Given the description of an element on the screen output the (x, y) to click on. 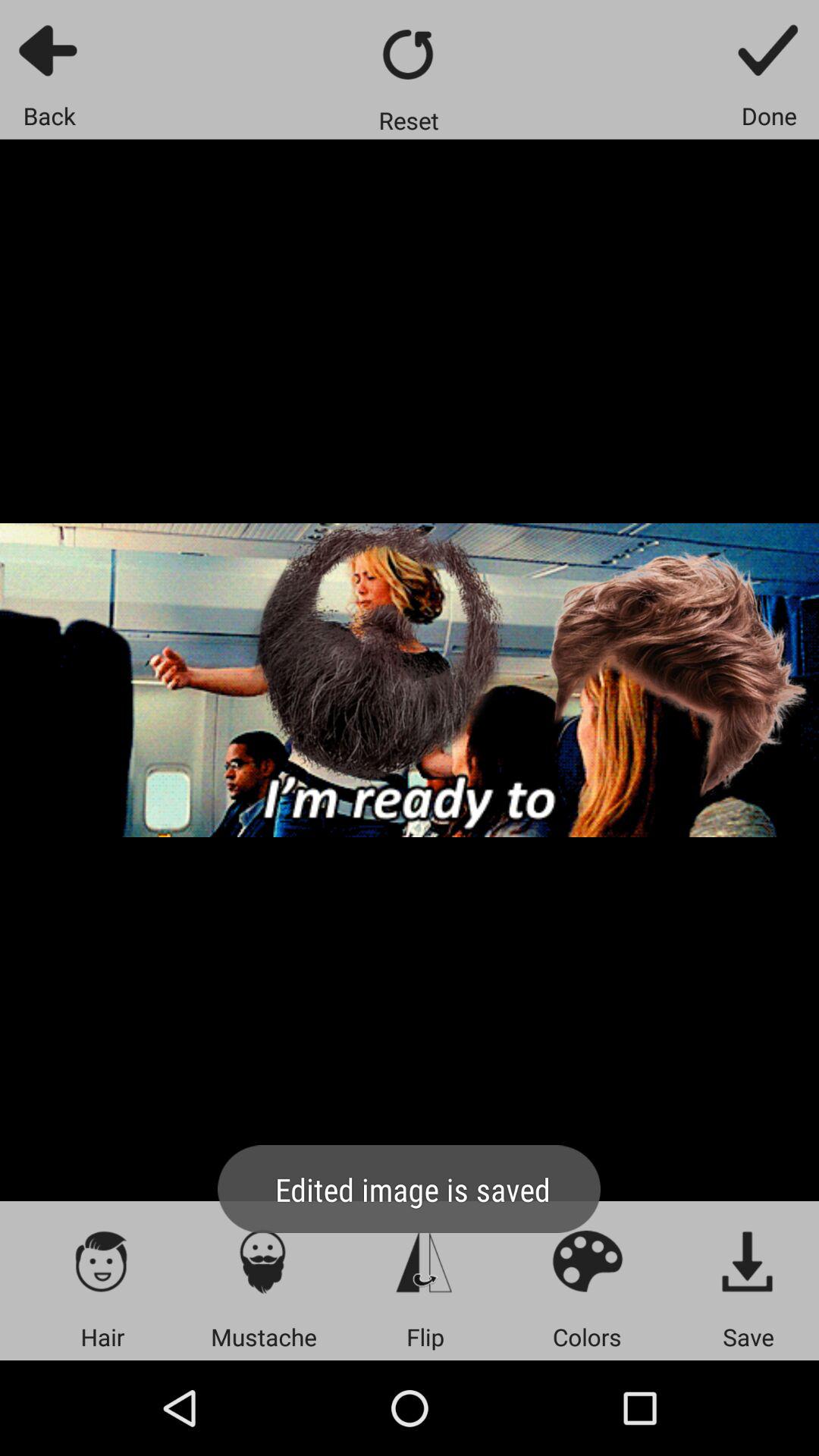
flip image (425, 1260)
